Given the description of an element on the screen output the (x, y) to click on. 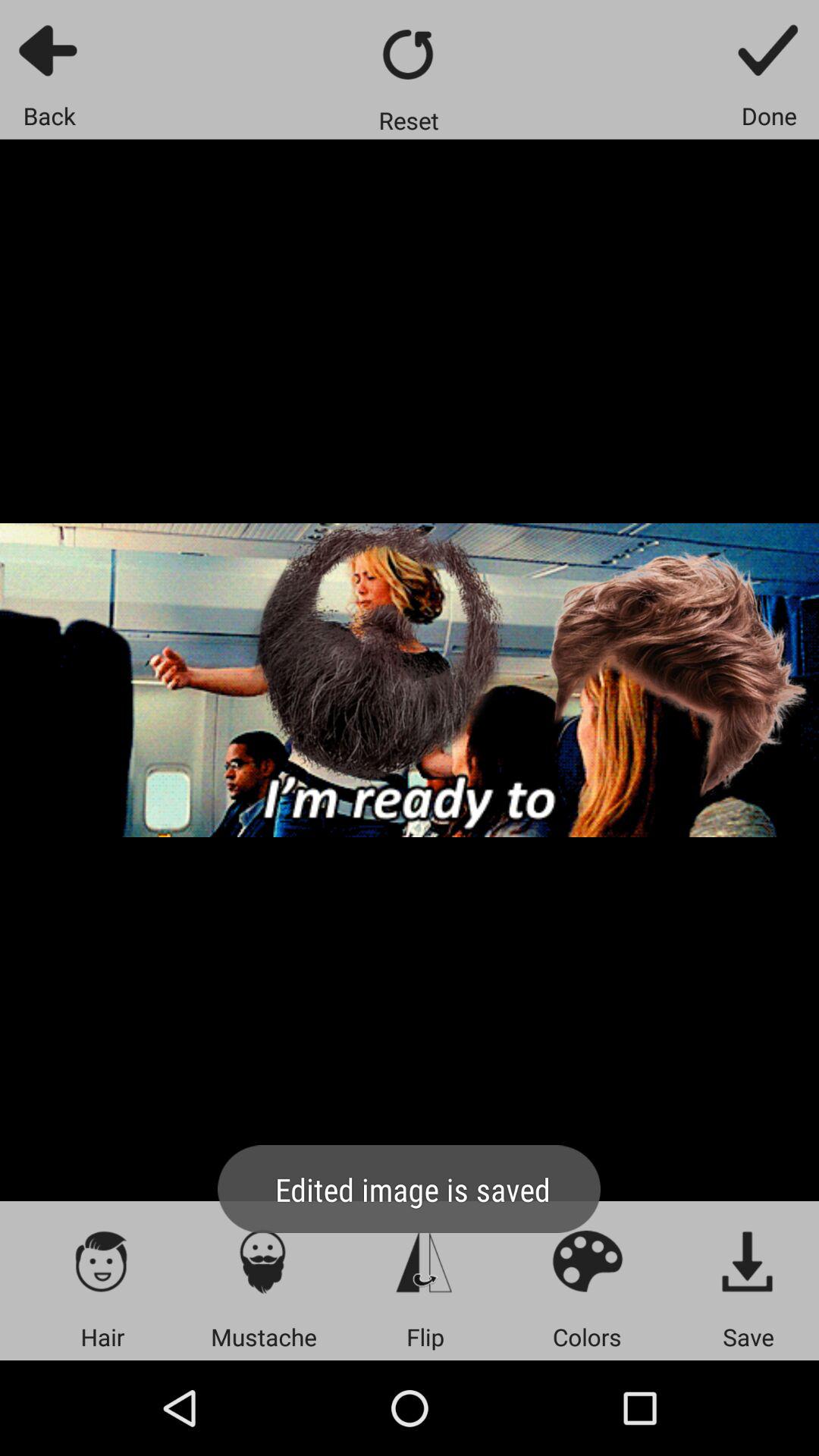
flip image (425, 1260)
